Given the description of an element on the screen output the (x, y) to click on. 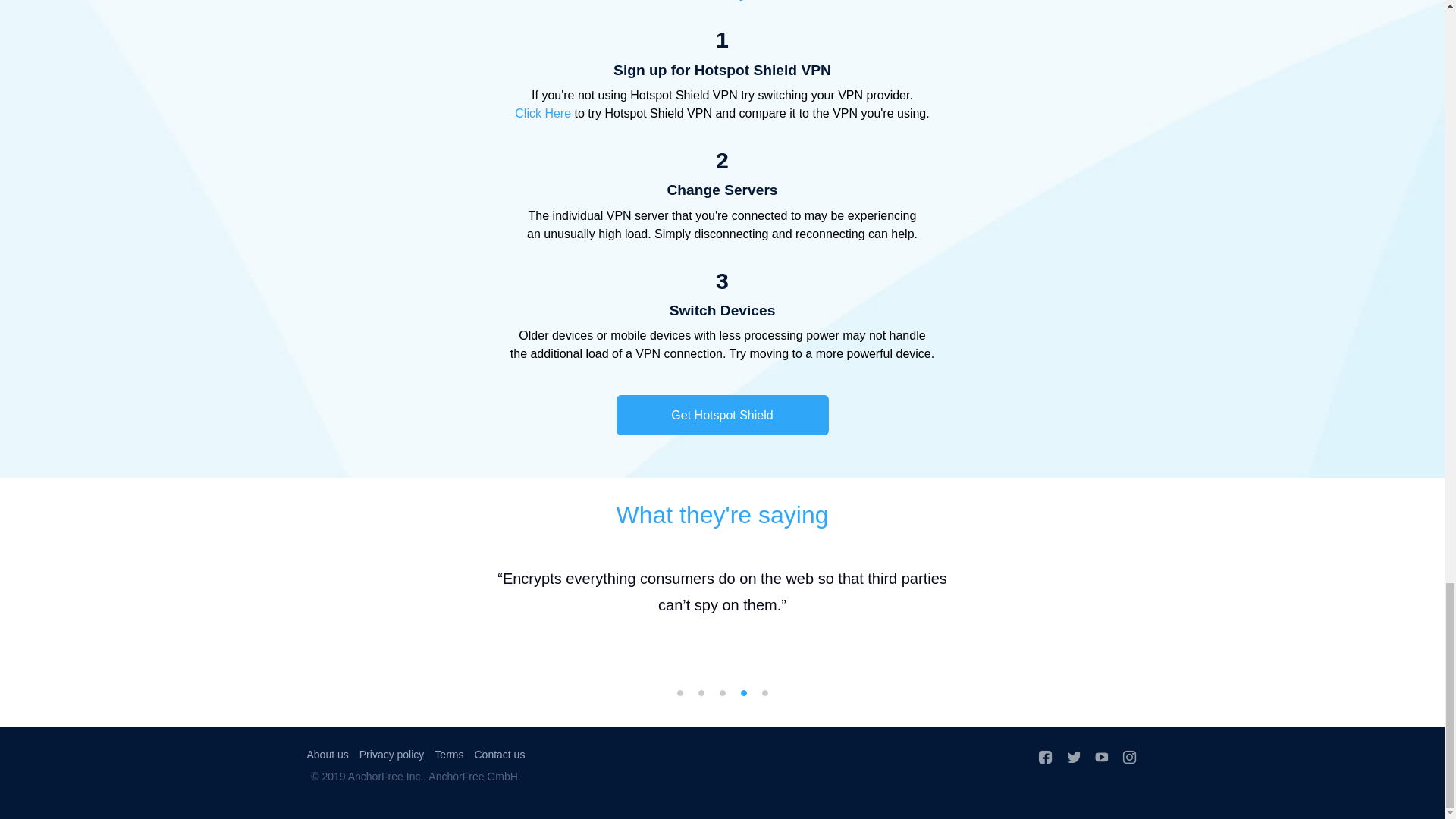
Contact us (499, 754)
Privacy policy (392, 754)
About us (326, 754)
Click Here  (544, 113)
4 (743, 693)
5 (764, 693)
3 (721, 693)
Terms (448, 754)
Get Hotspot Shield (721, 414)
1 (679, 693)
2 (700, 693)
